Given the description of an element on the screen output the (x, y) to click on. 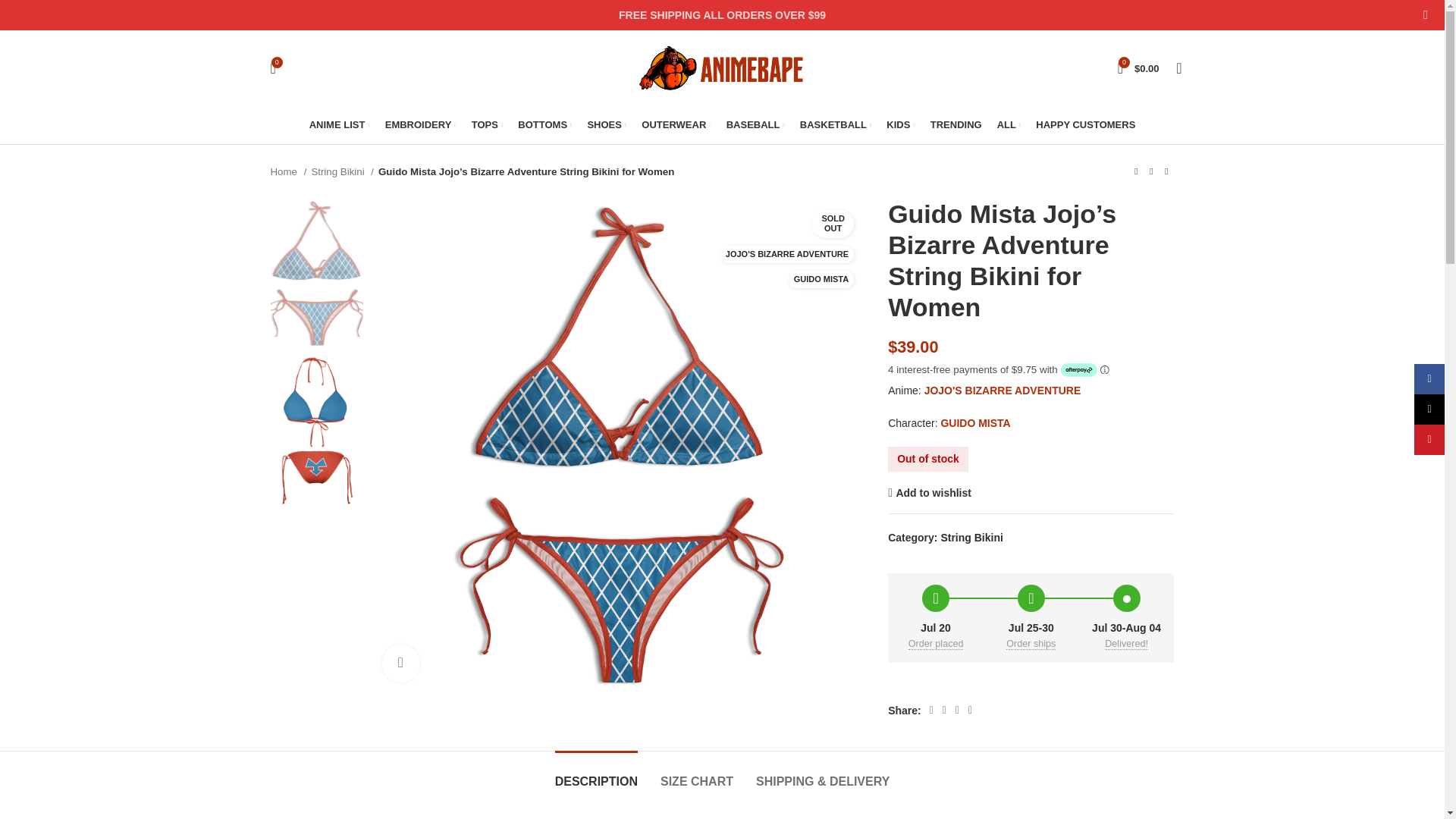
animebape logo web (722, 68)
Happy Customers (1085, 124)
EMBROIDERY (421, 124)
SHOES (606, 124)
TOPS (487, 124)
ANIME LIST (338, 124)
BOTTOMS (545, 124)
Shopping cart (1138, 68)
